Given the description of an element on the screen output the (x, y) to click on. 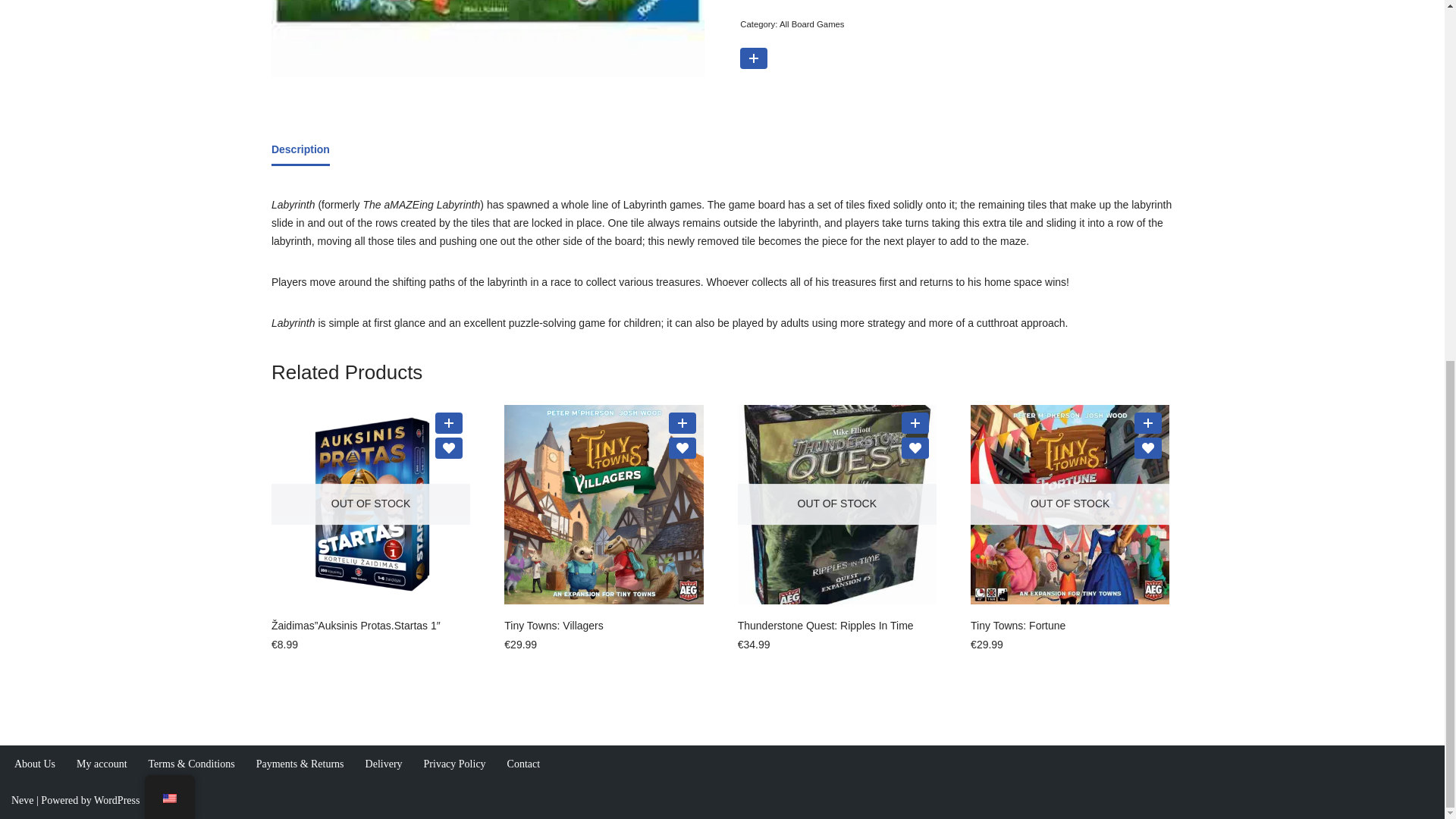
pokemon labyrinth (487, 38)
English (168, 157)
